Given the description of an element on the screen output the (x, y) to click on. 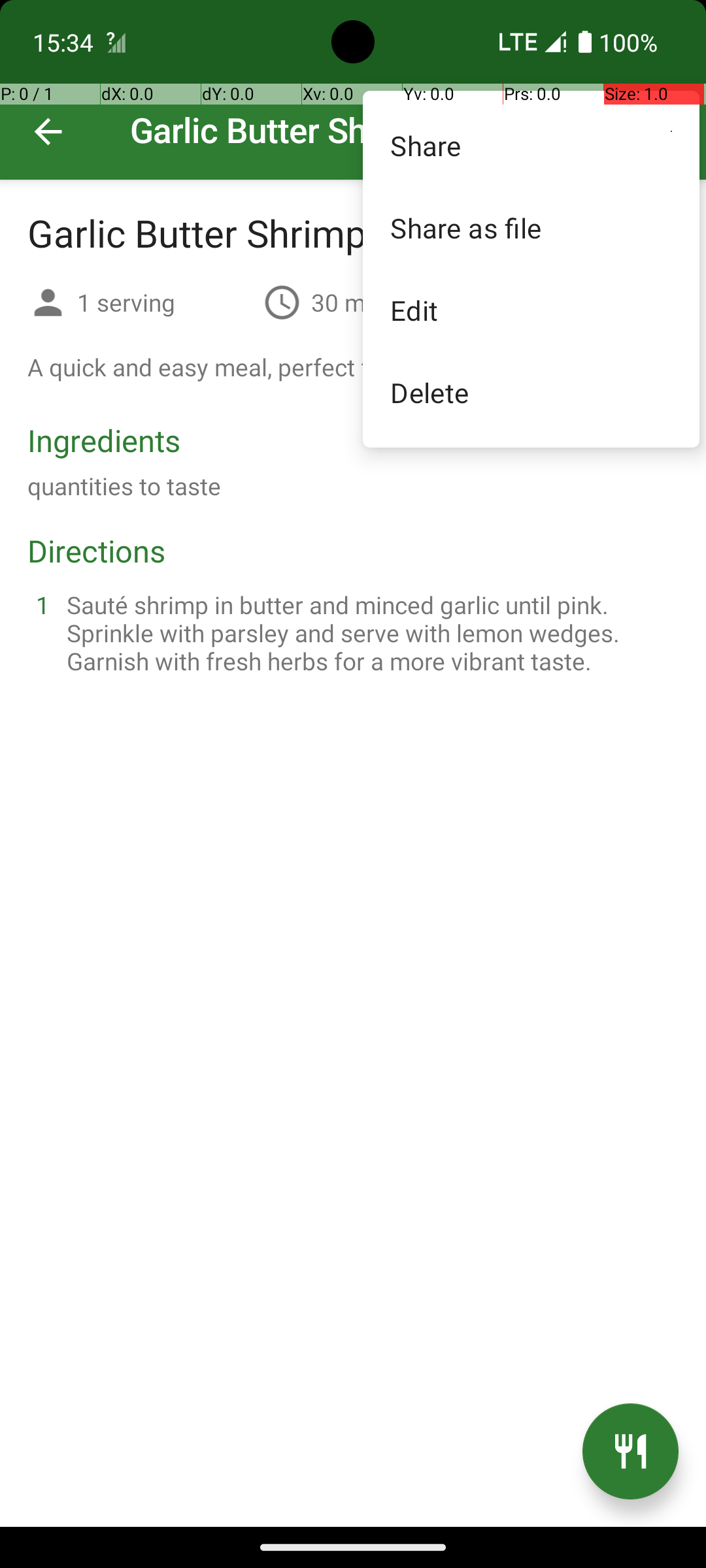
Share as file Element type: android.widget.TextView (531, 227)
